Given the description of an element on the screen output the (x, y) to click on. 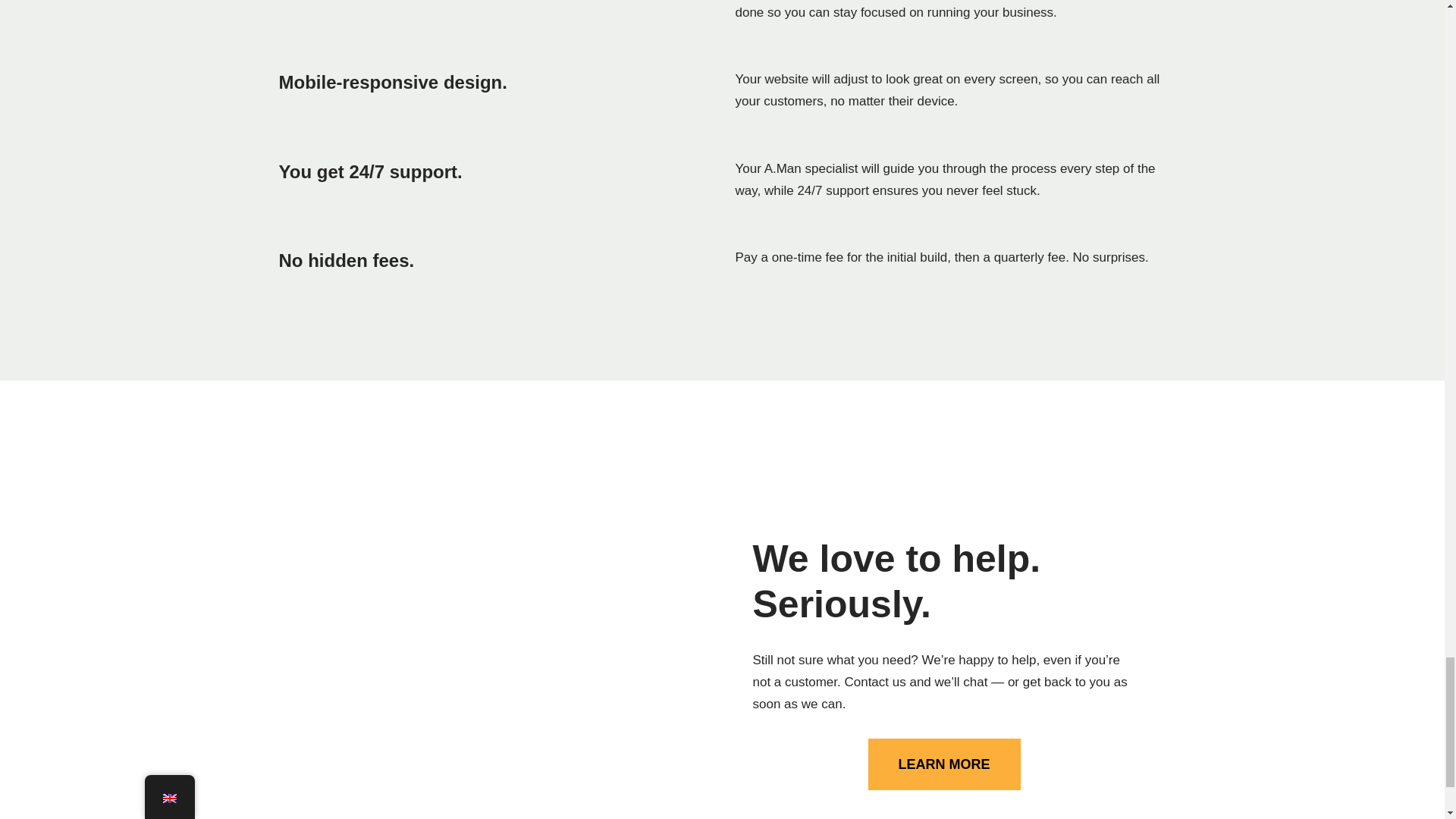
LEARN MORE (943, 764)
